Given the description of an element on the screen output the (x, y) to click on. 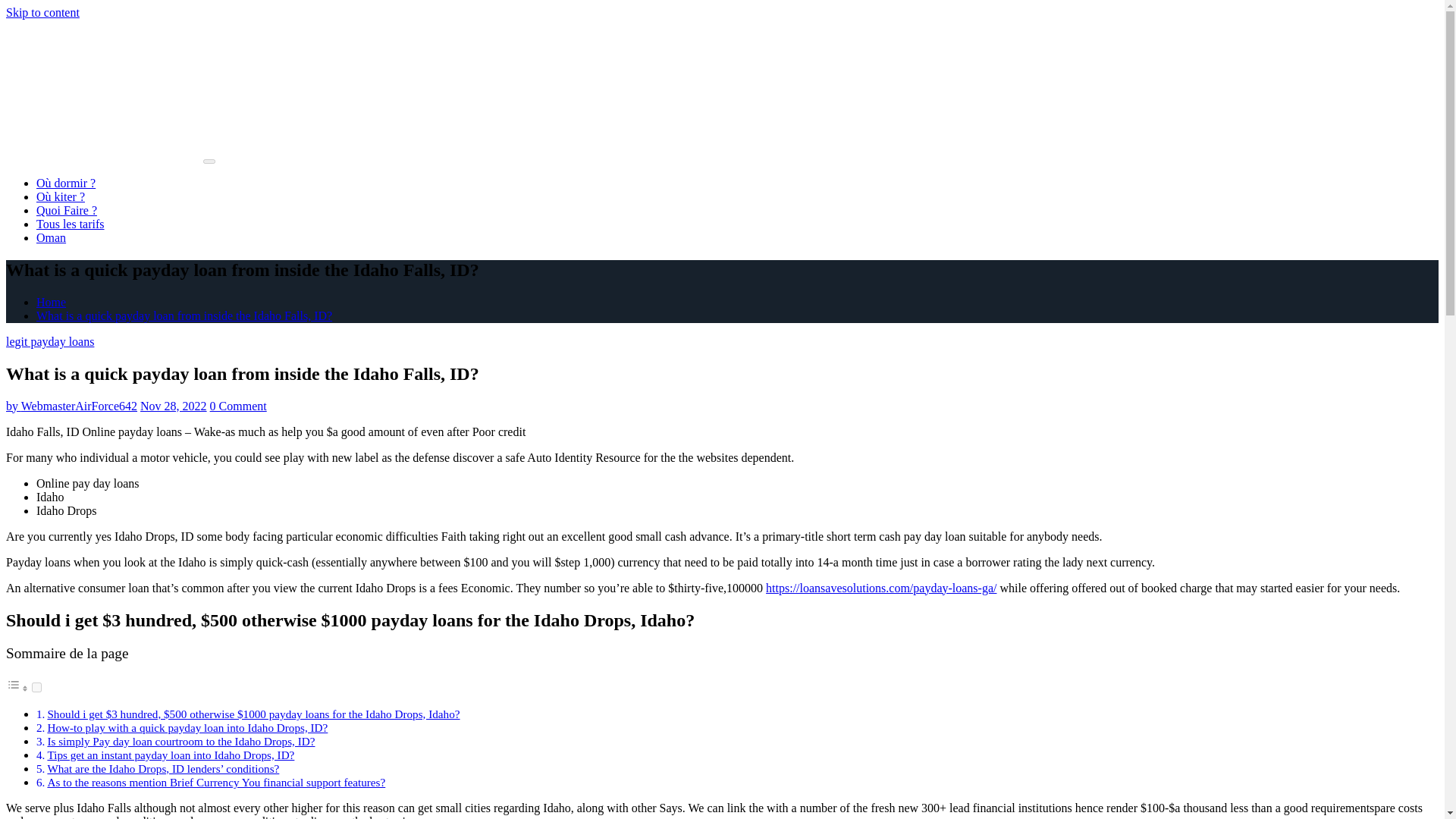
How-to play with a quick payday loan into Idaho Drops, ID? (186, 727)
Tous les tarifs (70, 223)
Is simply Pay day loan courtroom to the Idaho Drops, ID? (180, 740)
Home (50, 301)
legit payday loans (49, 341)
Tips get an instant payday loan into Idaho Drops, ID? (170, 754)
Is simply Pay day loan courtroom to the Idaho Drops, ID? (180, 740)
by WebmasterAirForce642 (70, 405)
0 Comment (237, 405)
on (37, 687)
Skip to content (42, 11)
How-to play with a quick payday loan into Idaho Drops, ID? (186, 727)
Nov 28, 2022 (172, 405)
